Given the description of an element on the screen output the (x, y) to click on. 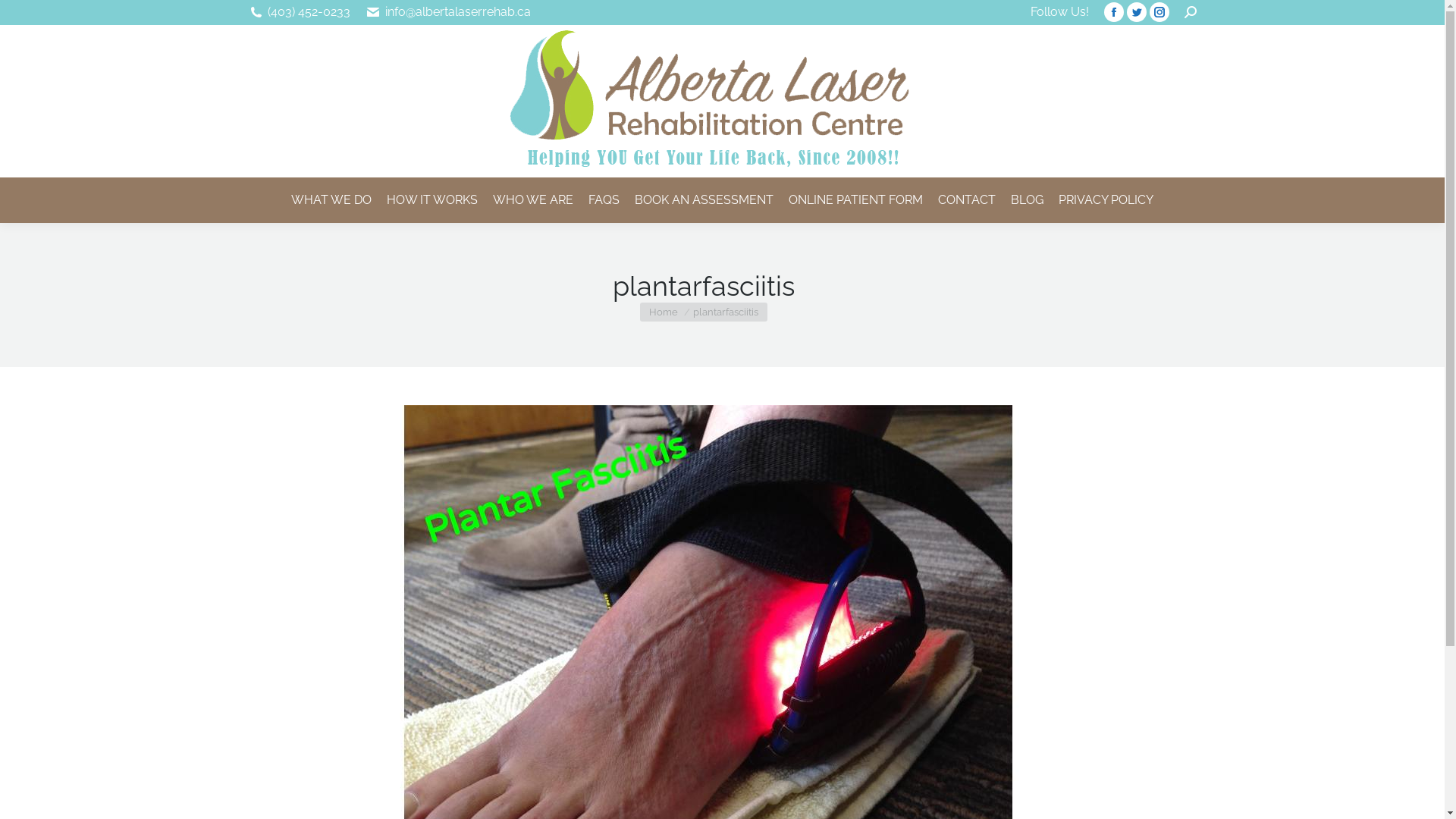
HOW IT WORKS Element type: text (431, 200)
WHO WE ARE Element type: text (533, 200)
WHAT WE DO Element type: text (331, 200)
Instagram page opens in new window Element type: text (1159, 11)
FAQS Element type: text (603, 200)
CONTACT Element type: text (966, 200)
Facebook page opens in new window Element type: text (1113, 11)
Twitter page opens in new window Element type: text (1136, 11)
BLOG Element type: text (1027, 200)
Home Element type: text (663, 311)
PRIVACY POLICY Element type: text (1105, 200)
BOOK AN ASSESSMENT Element type: text (703, 200)
Go! Element type: text (23, 16)
ONLINE PATIENT FORM Element type: text (855, 200)
